Given the description of an element on the screen output the (x, y) to click on. 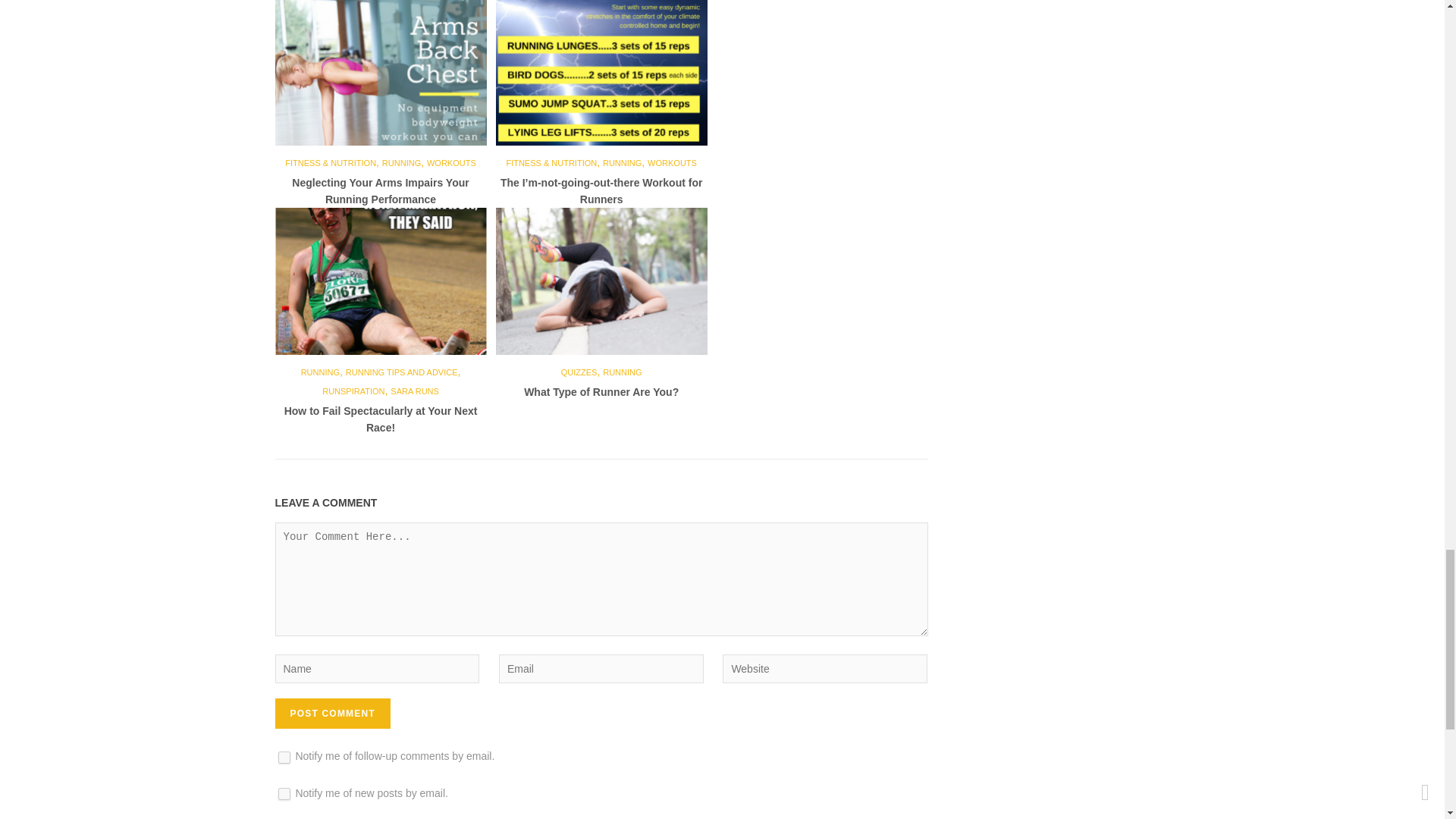
subscribe (283, 757)
Post Comment (332, 713)
subscribe (283, 793)
